Given the description of an element on the screen output the (x, y) to click on. 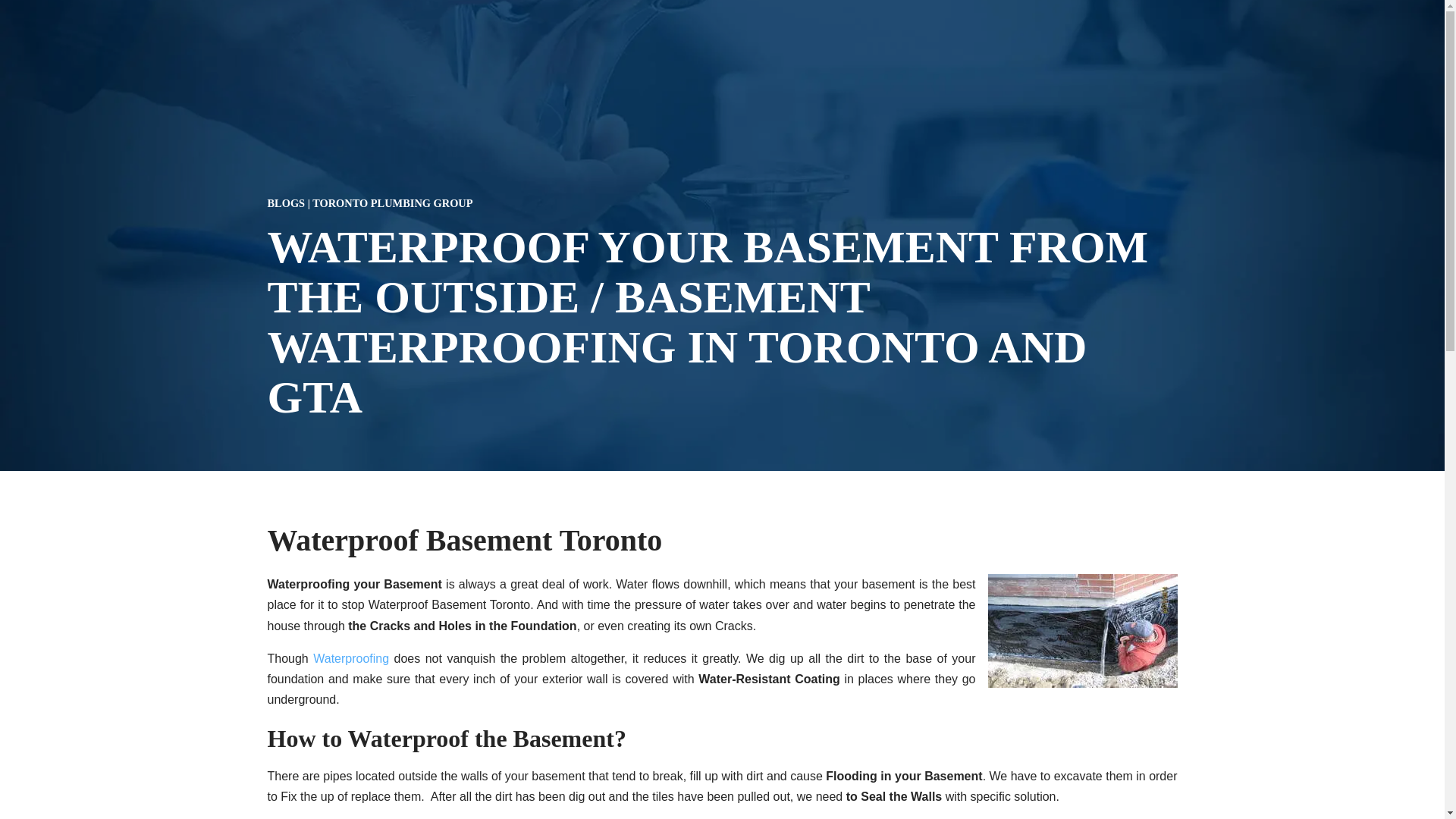
Basement Waterproofingin Toronto and GTA (350, 658)
